Given the description of an element on the screen output the (x, y) to click on. 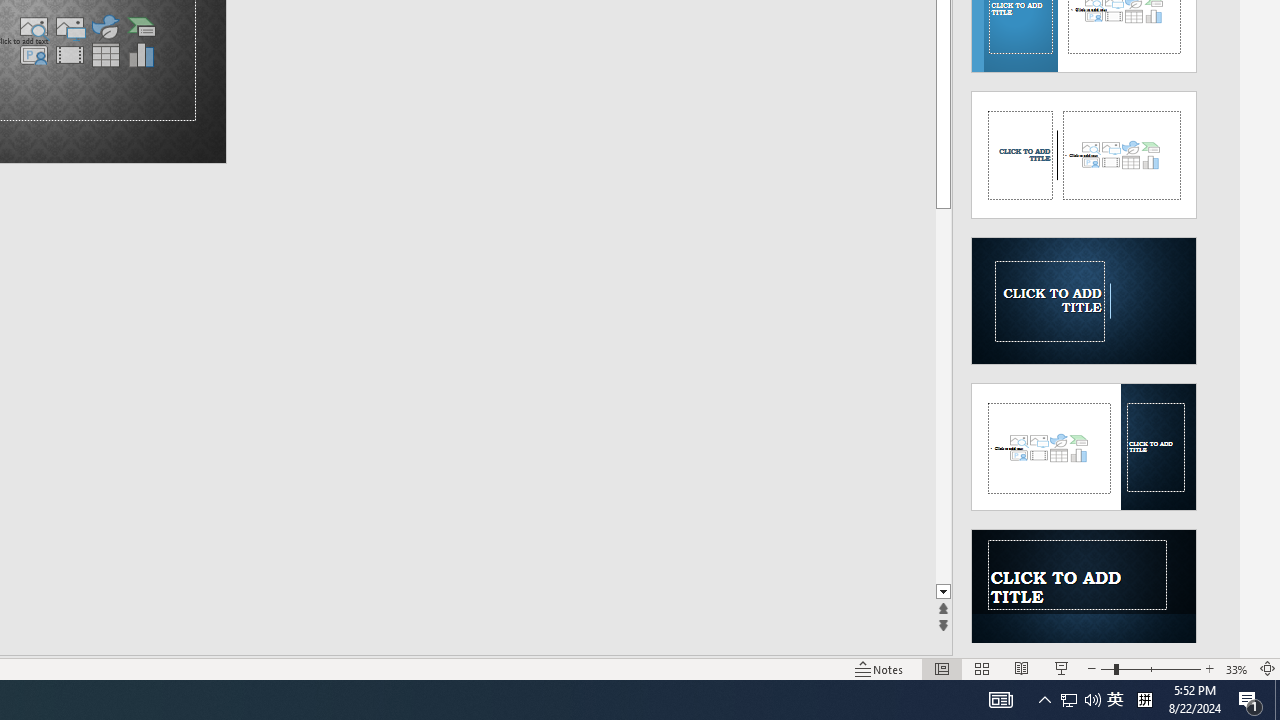
Reading View (1021, 668)
Insert Chart (141, 55)
Zoom Out (1106, 668)
Notes  (879, 668)
Stock Images (33, 26)
Page down (943, 395)
Insert Video (69, 55)
